Given the description of an element on the screen output the (x, y) to click on. 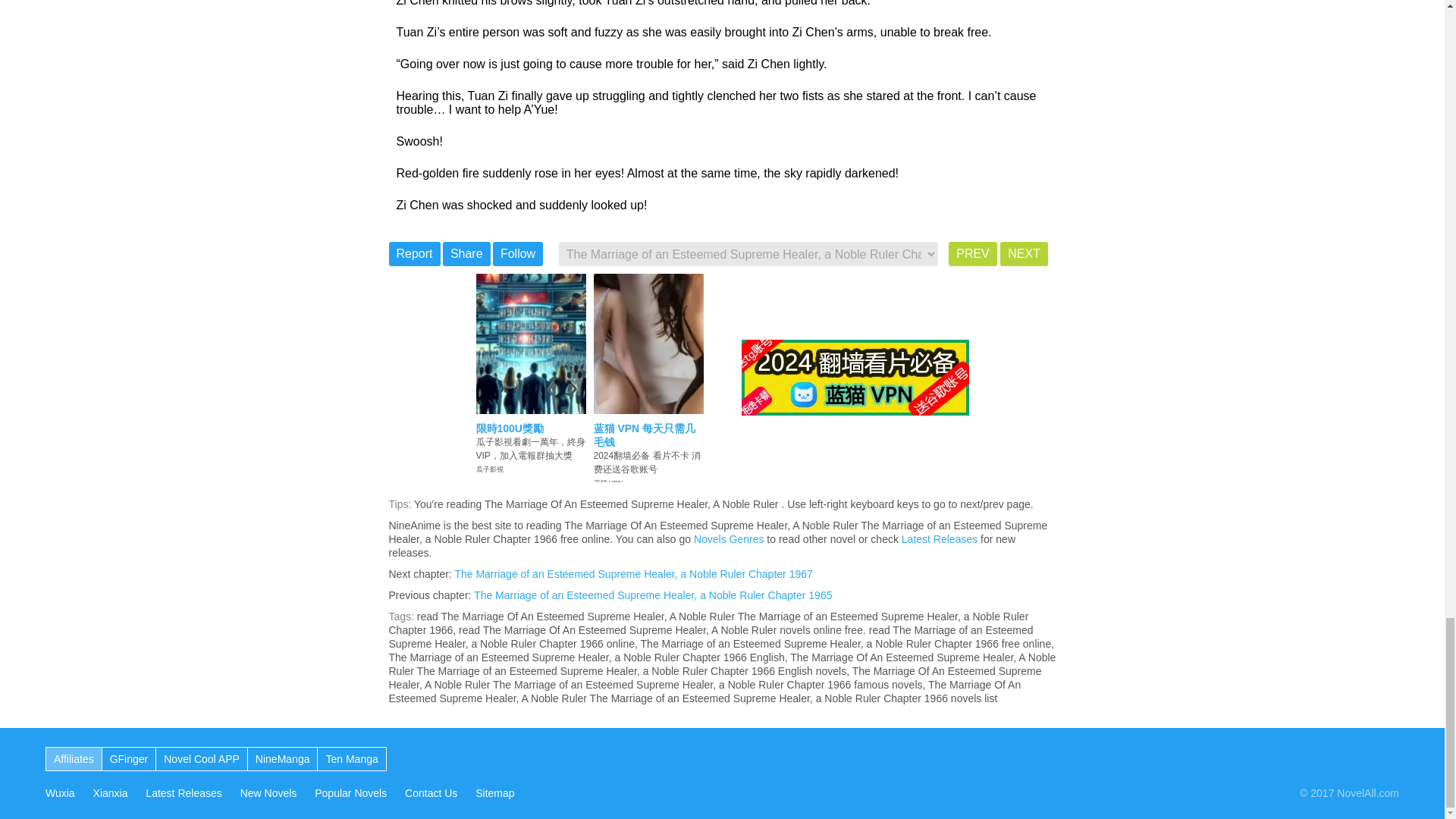
GFinger (129, 758)
Novel Cool APP (201, 758)
Read Manga Online (350, 758)
